Given the description of an element on the screen output the (x, y) to click on. 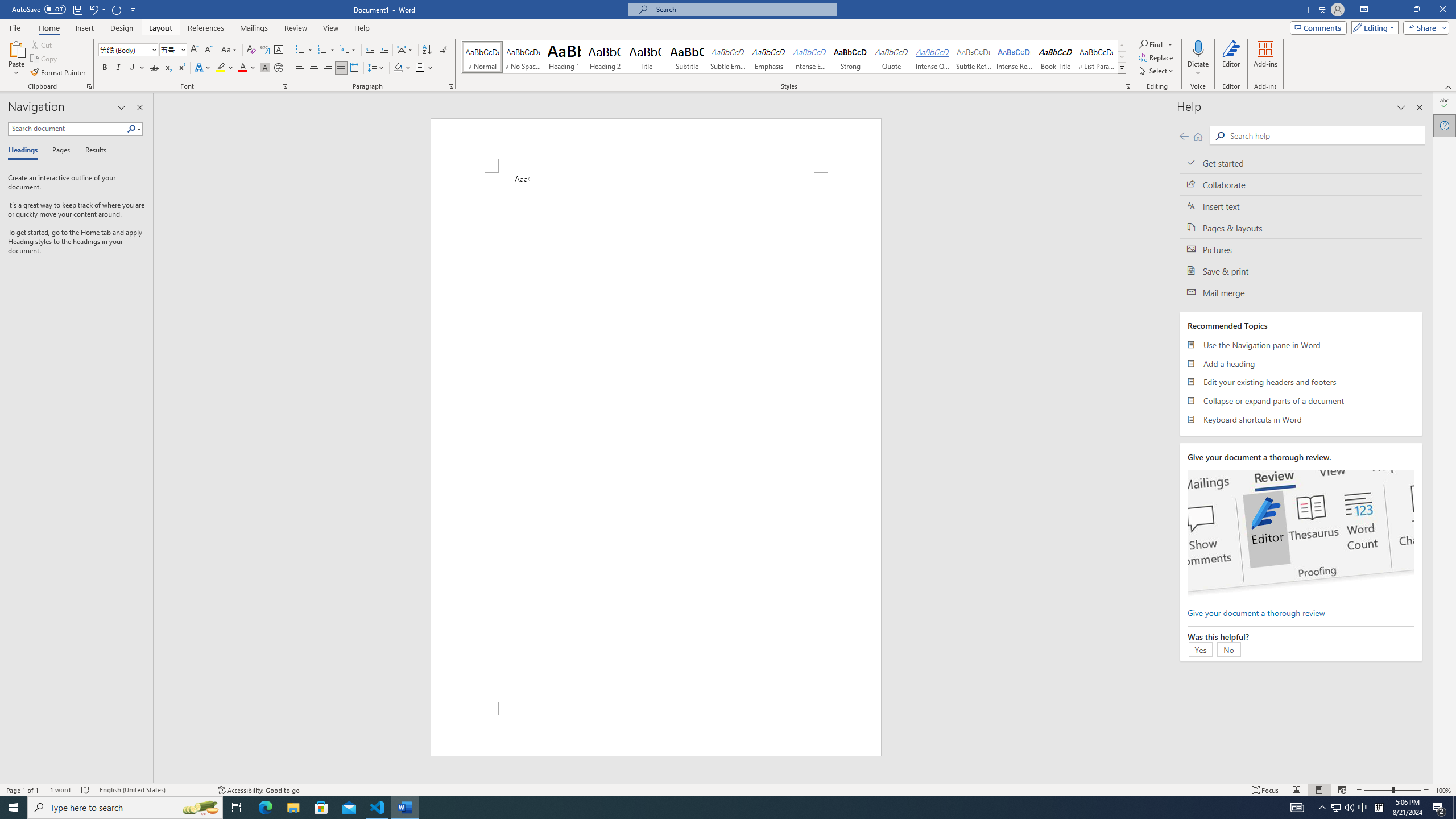
Bold (104, 67)
Format Painter (58, 72)
Text Highlight Color (224, 67)
Zoom (1392, 790)
